Given the description of an element on the screen output the (x, y) to click on. 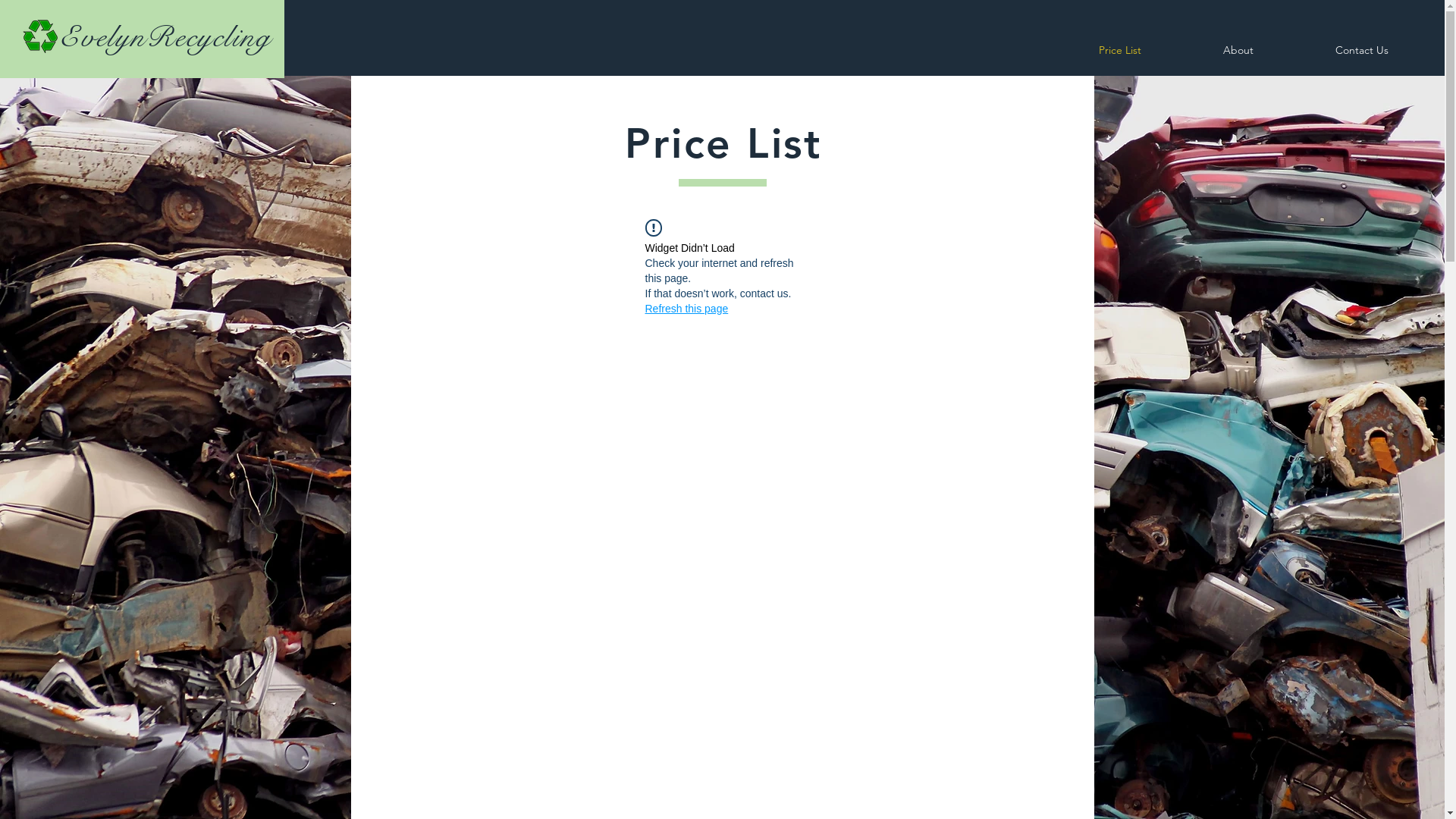
About Element type: text (1238, 50)
Evelyn Element type: text (102, 36)
Refresh this page Element type: text (686, 308)
Contact Us Element type: text (1361, 50)
Price List Element type: text (1119, 50)
